Given the description of an element on the screen output the (x, y) to click on. 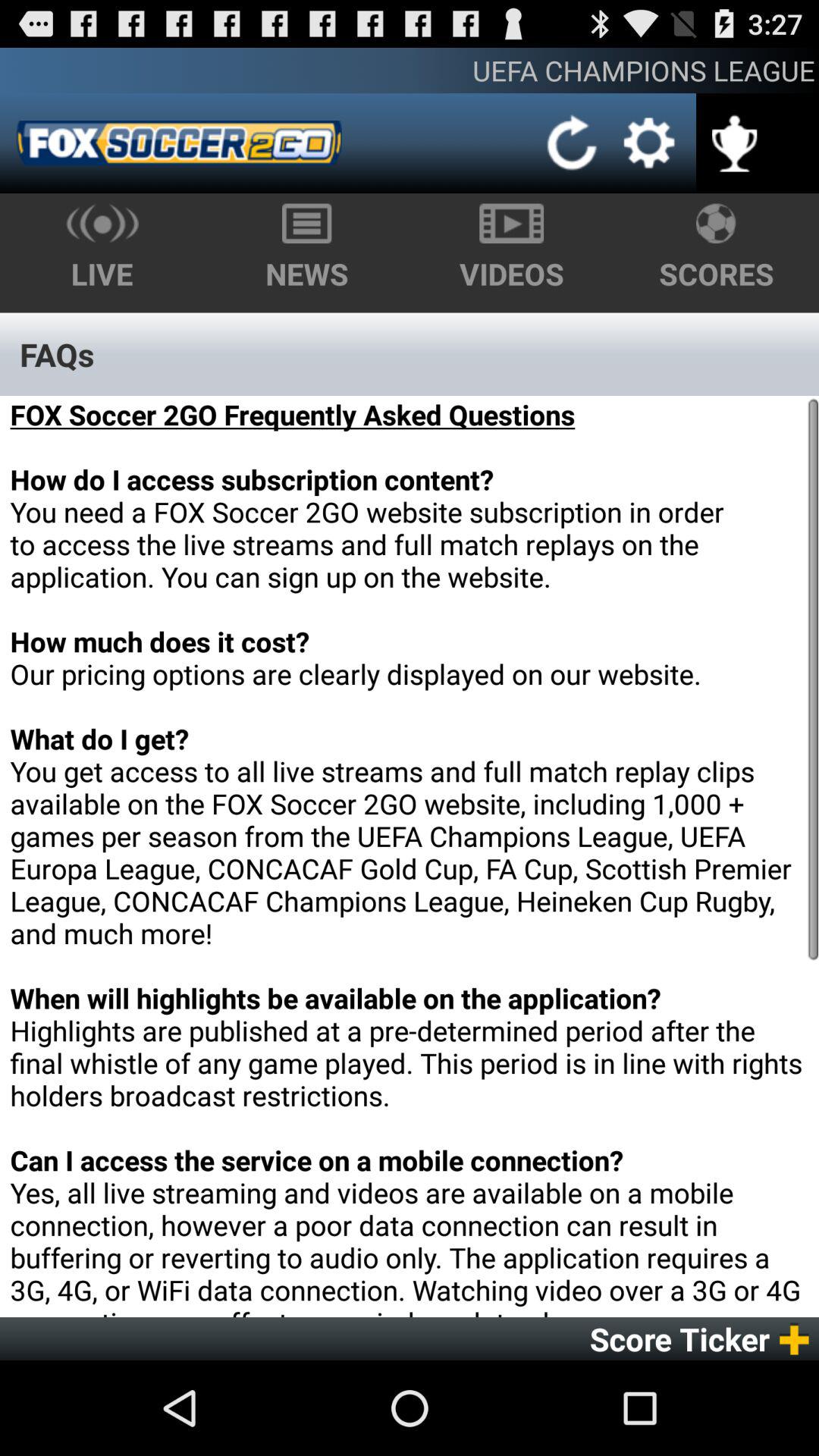
turn on item below the uefa champions league (179, 142)
